Given the description of an element on the screen output the (x, y) to click on. 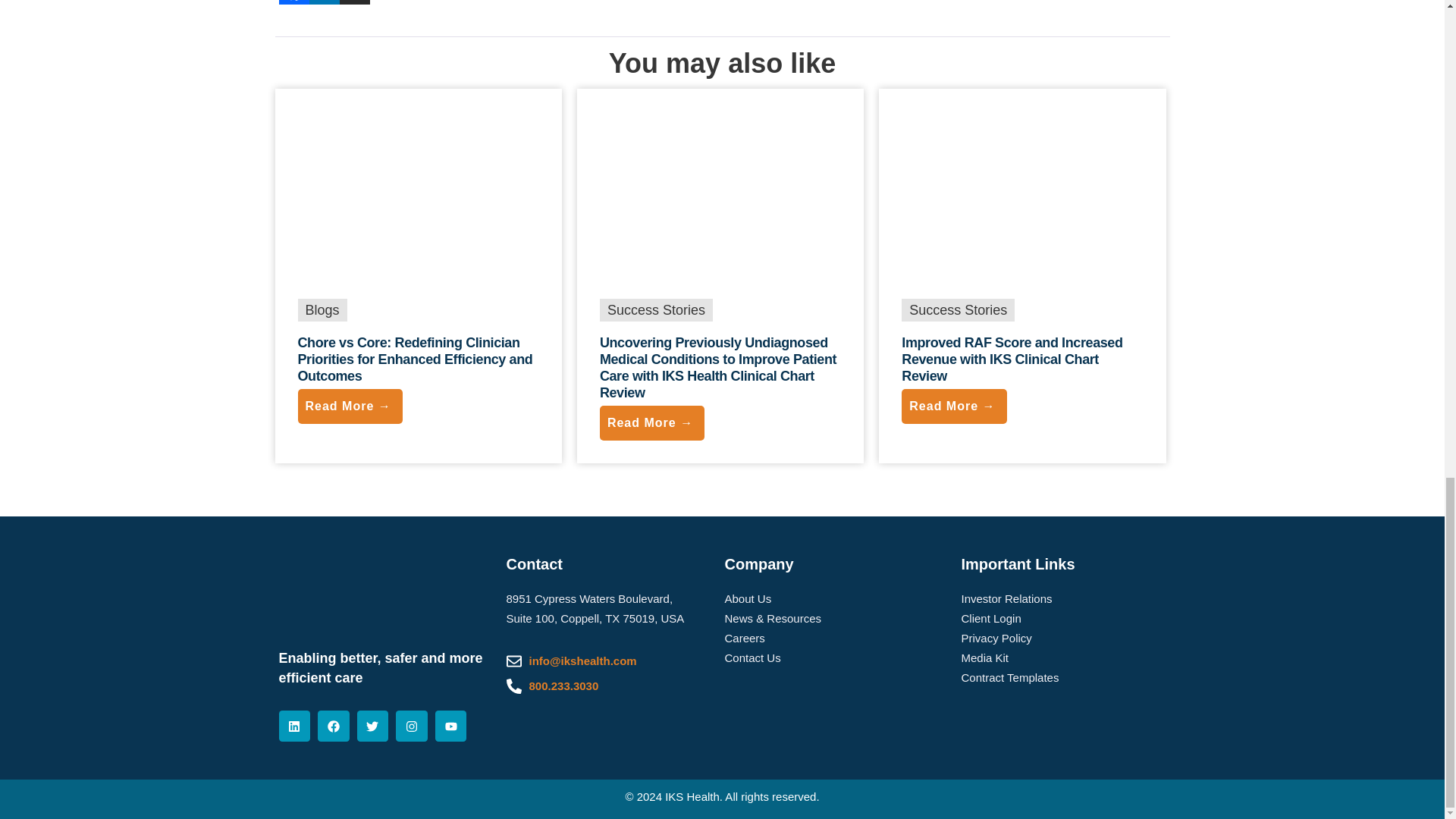
Facebook (293, 2)
X (354, 2)
Linkedin (323, 2)
